Given the description of an element on the screen output the (x, y) to click on. 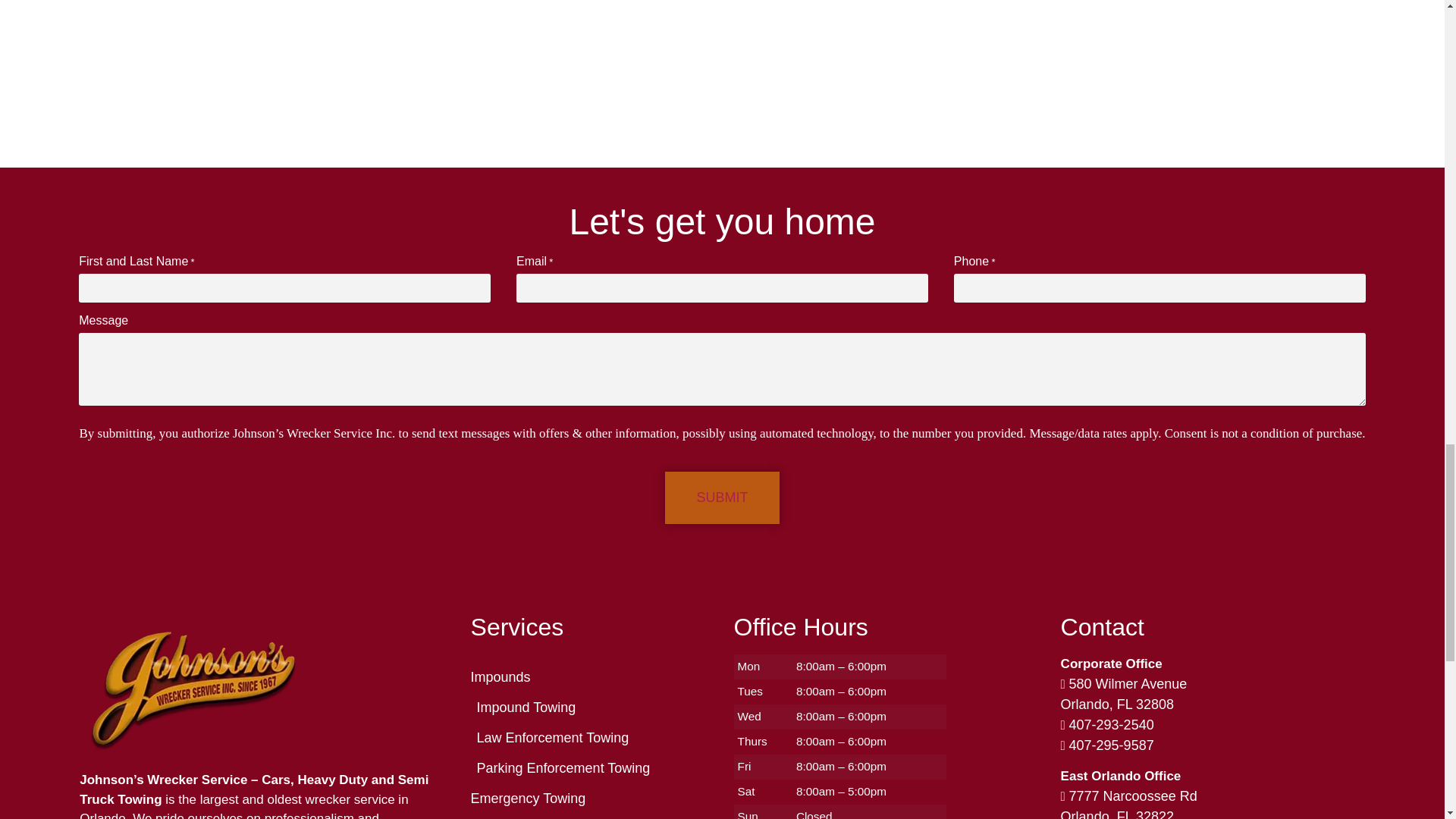
Submit (721, 497)
